Given the description of an element on the screen output the (x, y) to click on. 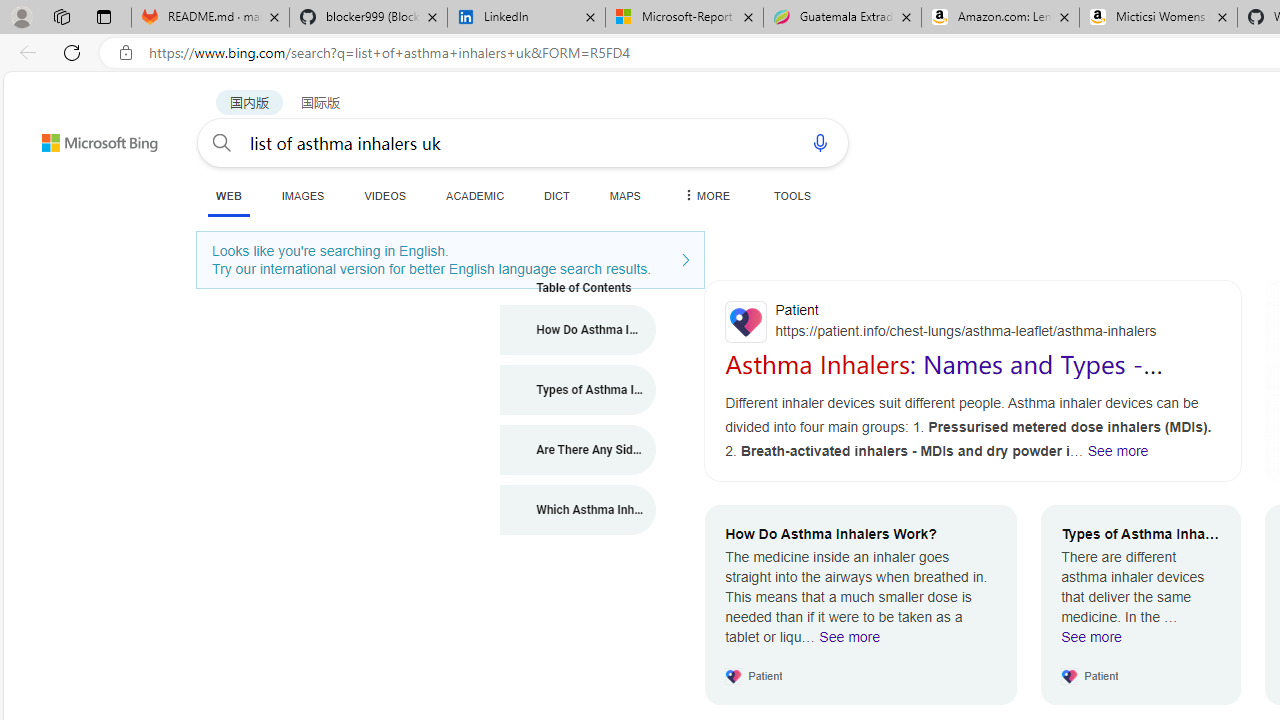
DICT (557, 195)
How Do Asthma Inhalers Work? (578, 329)
MAPS (624, 195)
Are There Any Side-Effects from Asthma Inhalers? (578, 449)
Search button (221, 142)
ACADEMIC (475, 195)
Patient (973, 321)
TOOLS (792, 195)
ACADEMIC (475, 195)
